Given the description of an element on the screen output the (x, y) to click on. 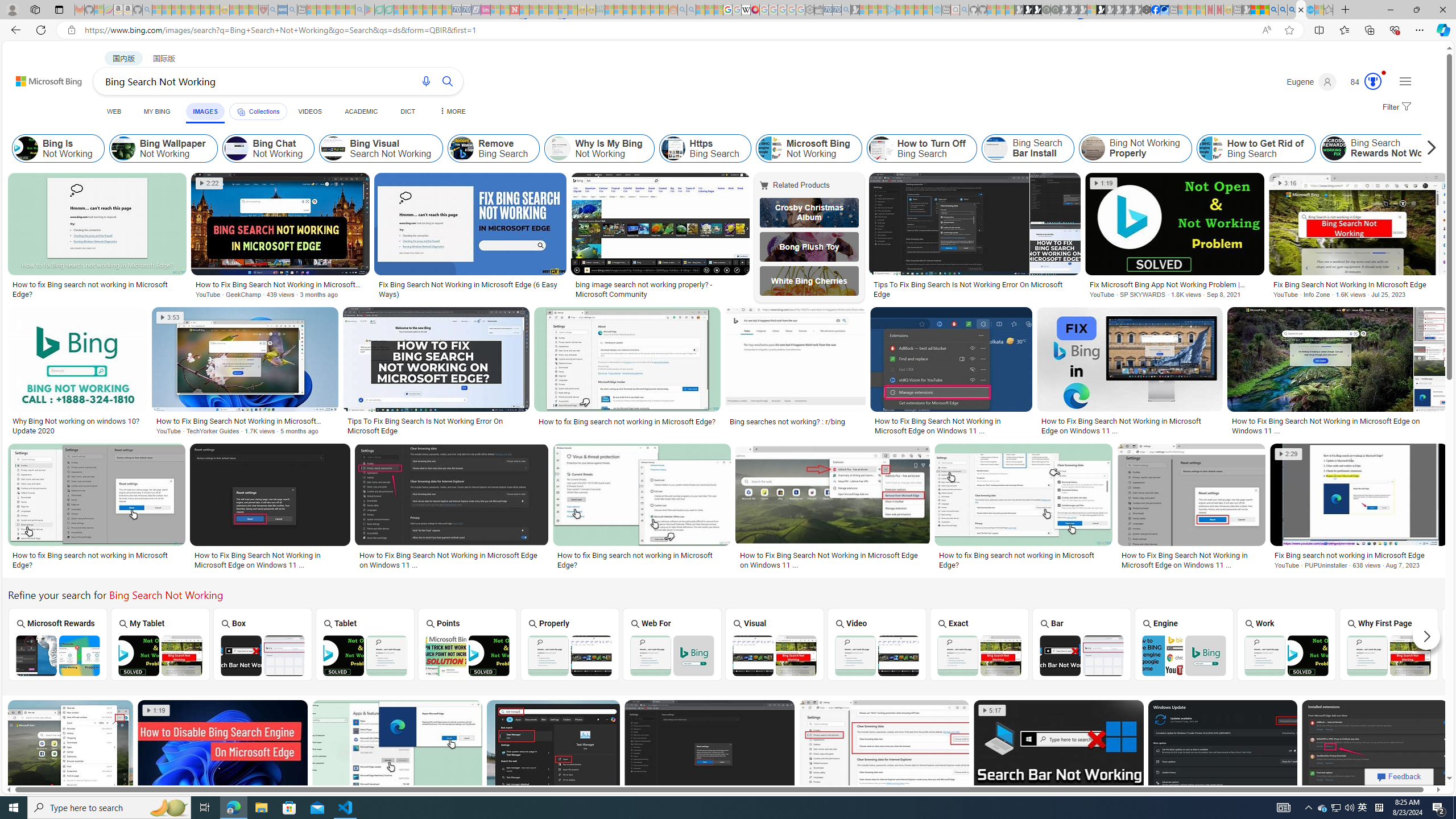
Bing Search Not Working On My Tablet My Tablet (160, 643)
Engine (1184, 643)
Bing Video Search Not Working Video (877, 643)
DICT (407, 111)
Bing Is Not Working (25, 148)
3:53 (170, 317)
DICT (407, 111)
Bing Search Box Not Working Box (262, 643)
